Given the description of an element on the screen output the (x, y) to click on. 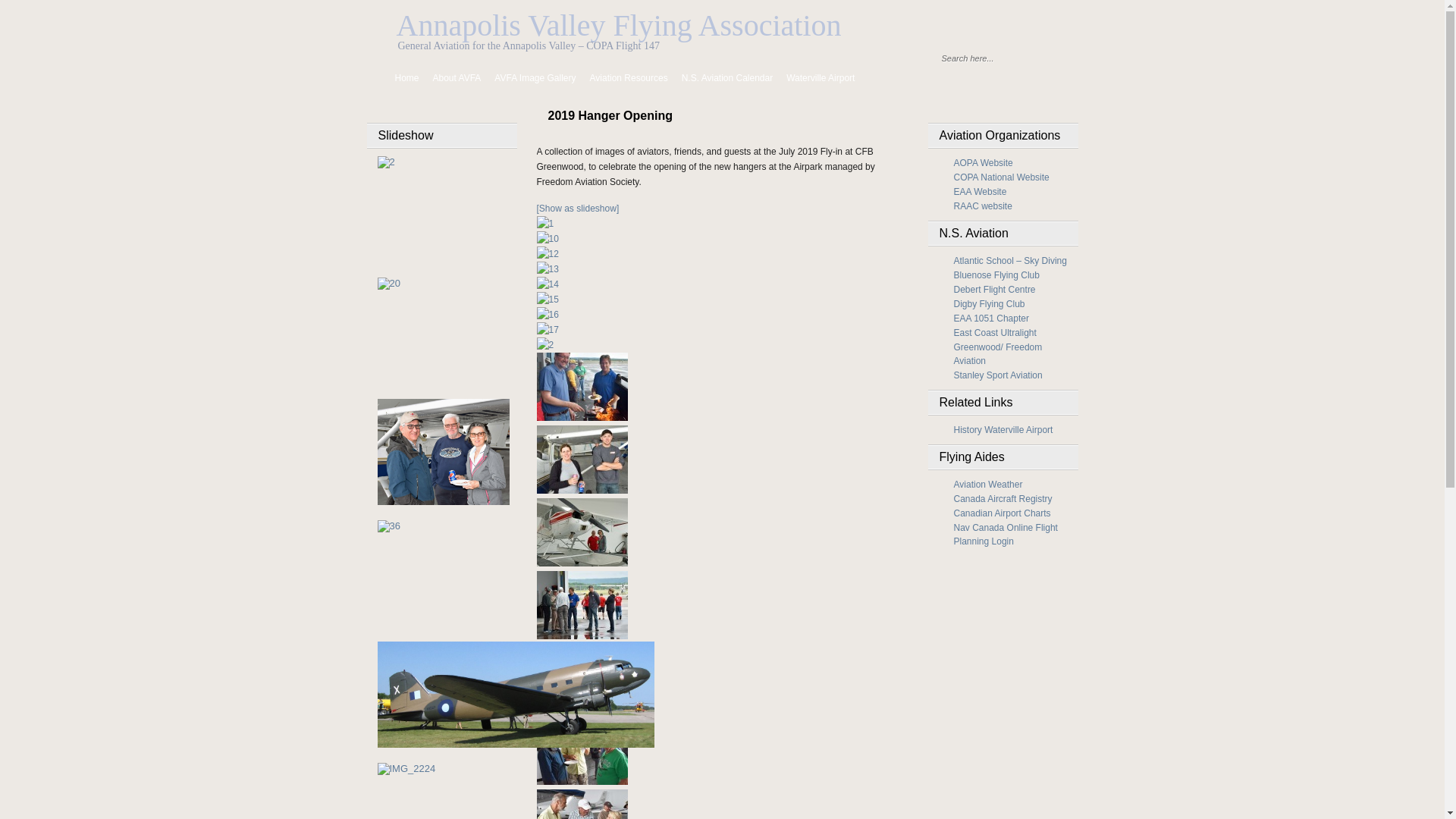
Canada Aircraft Registry Element type: text (1002, 498)
1 Element type: hover (545, 223)
Nav Canada Online Flight Planning Login Element type: text (1005, 534)
2 Element type: hover (545, 344)
About AVFA Element type: text (456, 77)
C-47 at Greenwood Fly-in 2009 Element type: hover (516, 743)
Debert Flight Centre Element type: text (994, 289)
Aviation Resources Element type: text (628, 77)
20 Element type: hover (581, 386)
Home Element type: text (399, 77)
22 Element type: hover (581, 532)
C-GPEL Europa Classic Christoph Both Wolfville, NS Element type: hover (406, 768)
25 Element type: hover (581, 677)
24 Element type: hover (581, 605)
RAAC website Element type: text (982, 205)
15 Element type: hover (547, 299)
16 Element type: hover (547, 314)
Digby Flying Club Element type: text (989, 303)
17 Element type: hover (547, 329)
EAA 1051 Chapter Element type: text (991, 318)
C-GPEL Europa Classic Christoph Both Wolfville, NS Element type: hover (406, 768)
13 Element type: hover (547, 268)
Waterville Airport Element type: text (820, 77)
21 Element type: hover (581, 459)
Greenwood/ Freedom Aviation Element type: text (997, 354)
[Show as slideshow] Element type: text (577, 208)
AVFA Image Gallery Element type: text (534, 77)
C-47 at Greenwood Fly-in 2009 Element type: hover (516, 694)
12 Element type: hover (547, 253)
10 Element type: hover (547, 238)
AOPA Website Element type: text (983, 162)
Aviation Weather Element type: text (987, 484)
14 Element type: hover (547, 283)
East Coast Ultralight Element type: text (994, 332)
Annapolis Valley Flying Association Element type: text (617, 25)
COPA National Website Element type: text (1001, 177)
26 Element type: hover (581, 750)
History Waterville Airport Element type: text (1003, 429)
Find Element type: text (1075, 57)
2019 Hanger Opening Element type: text (727, 109)
Bluenose Flying Club Element type: text (996, 274)
EAA Website Element type: text (980, 191)
Stanley Sport Aviation Element type: text (997, 375)
Canadian Airport Charts Element type: text (1002, 513)
N.S. Aviation Calendar Element type: text (727, 77)
